Given the description of an element on the screen output the (x, y) to click on. 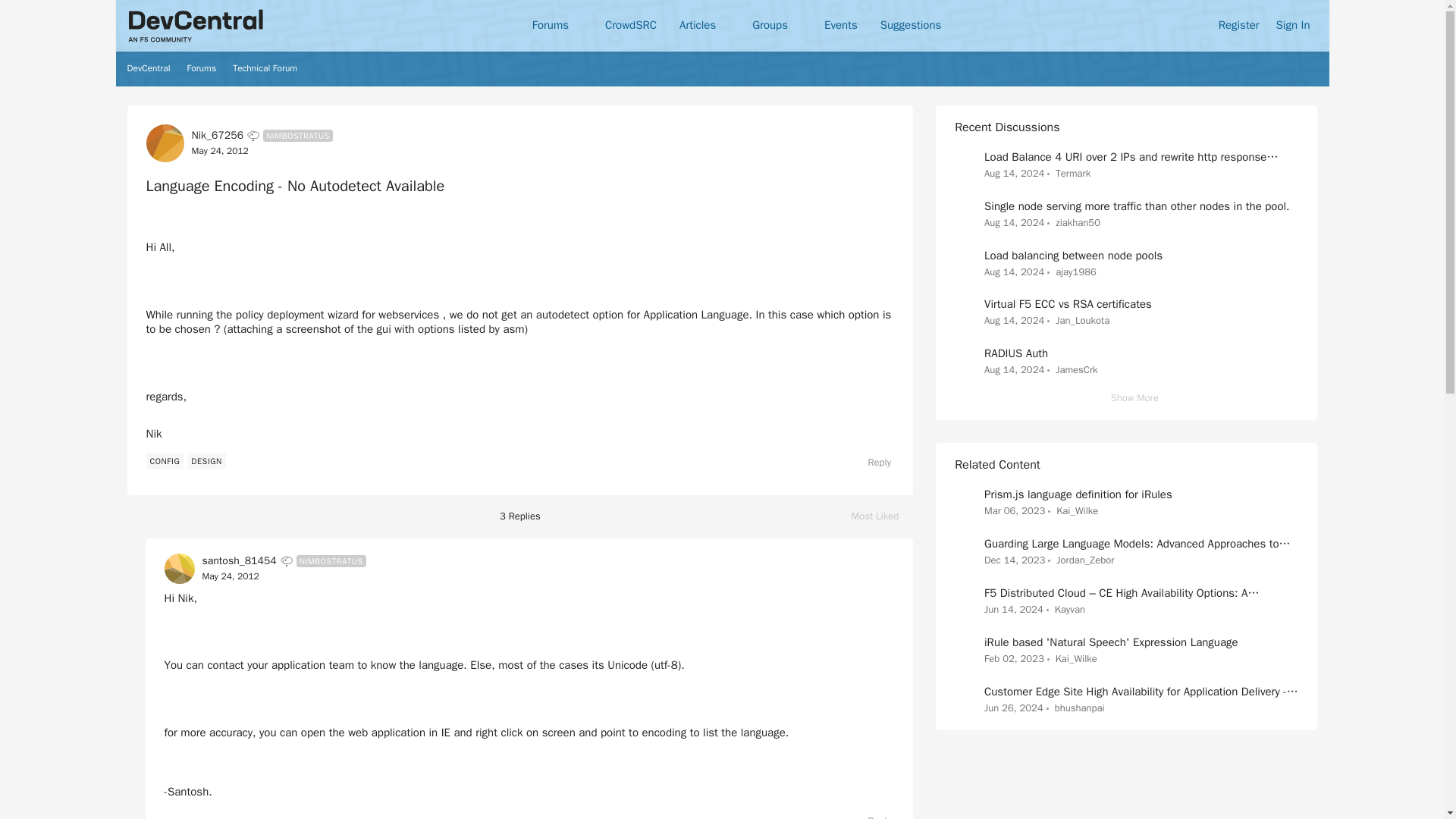
May 24, 2012 (882, 516)
Aug 14, 2024 (230, 576)
Load balancing between node pools (1013, 173)
May 24, 2012 at 2:00 PM (1072, 255)
August 14, 2024 at 12:36 PM (218, 150)
Forums (1013, 271)
Reply (201, 68)
DevCentral (871, 815)
Articles (149, 68)
